Given the description of an element on the screen output the (x, y) to click on. 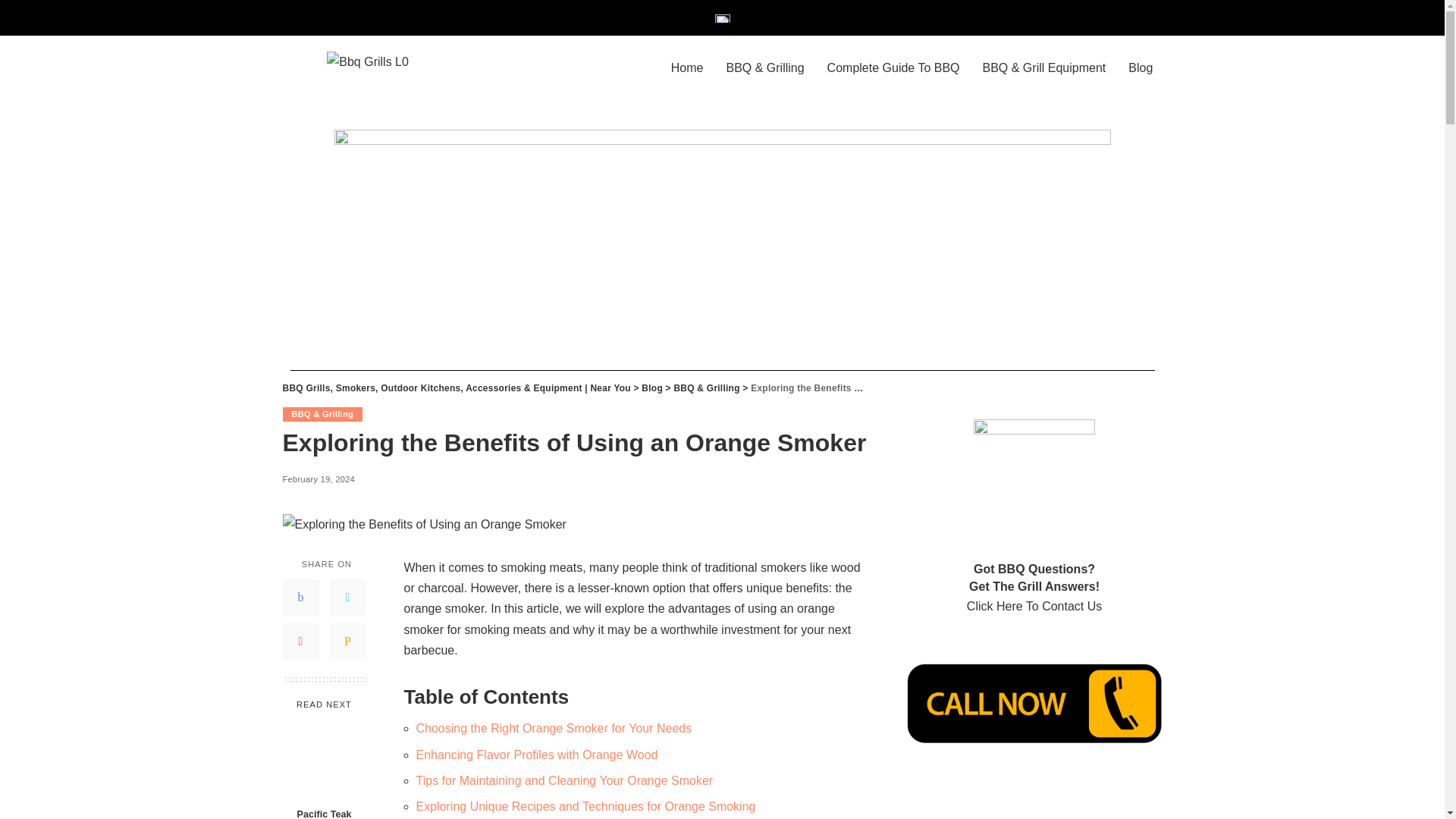
Twitter (347, 597)
Facebook (300, 597)
Home (686, 67)
Email (347, 641)
Go to Blog. (652, 388)
2024-02-19T16:24:34-05:00 (318, 479)
Complete Guide To BBQ (893, 67)
Pinterest (300, 641)
Blog (1139, 67)
